Given the description of an element on the screen output the (x, y) to click on. 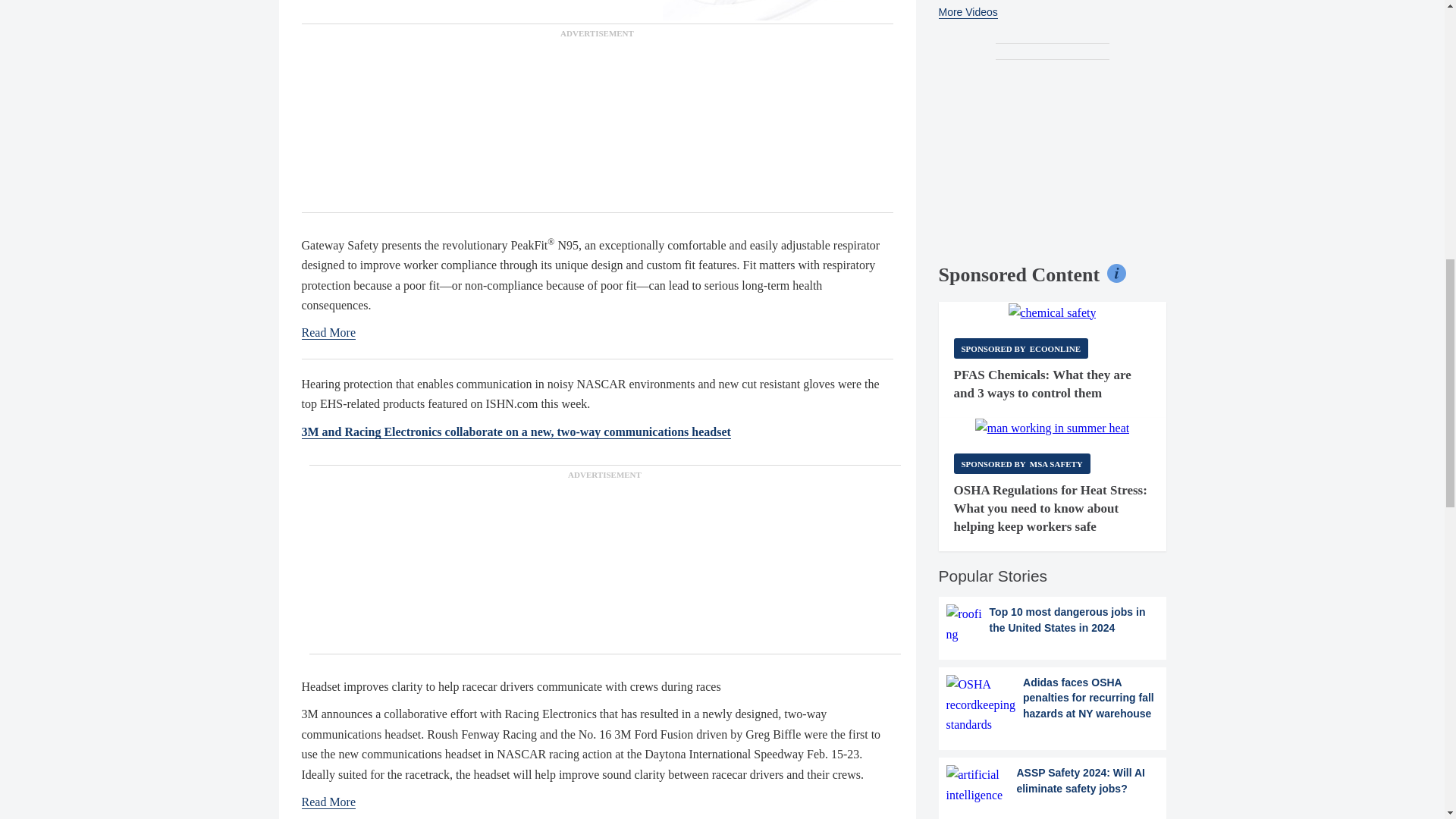
ASSP Safety 2024: Will AI eliminate safety jobs? (1052, 784)
Sponsored by MSA Safety (1021, 463)
man working in summer heat (1052, 428)
Top 10 most dangerous jobs in the United States in 2024 (1052, 624)
Sponsored by EcoOnline (1021, 348)
chemical safety (1052, 312)
